Given the description of an element on the screen output the (x, y) to click on. 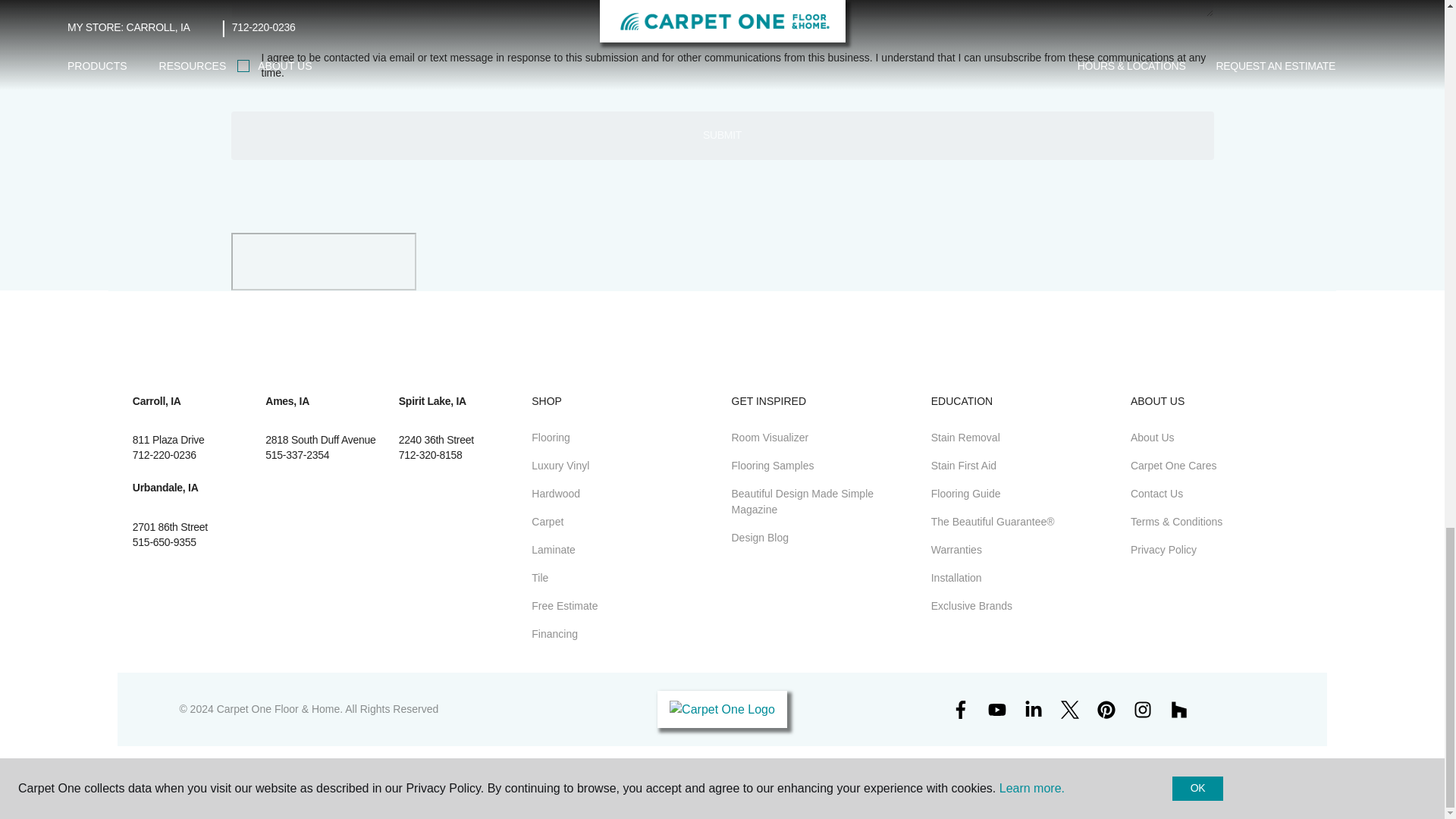
MyMessage (721, 8)
